Given the description of an element on the screen output the (x, y) to click on. 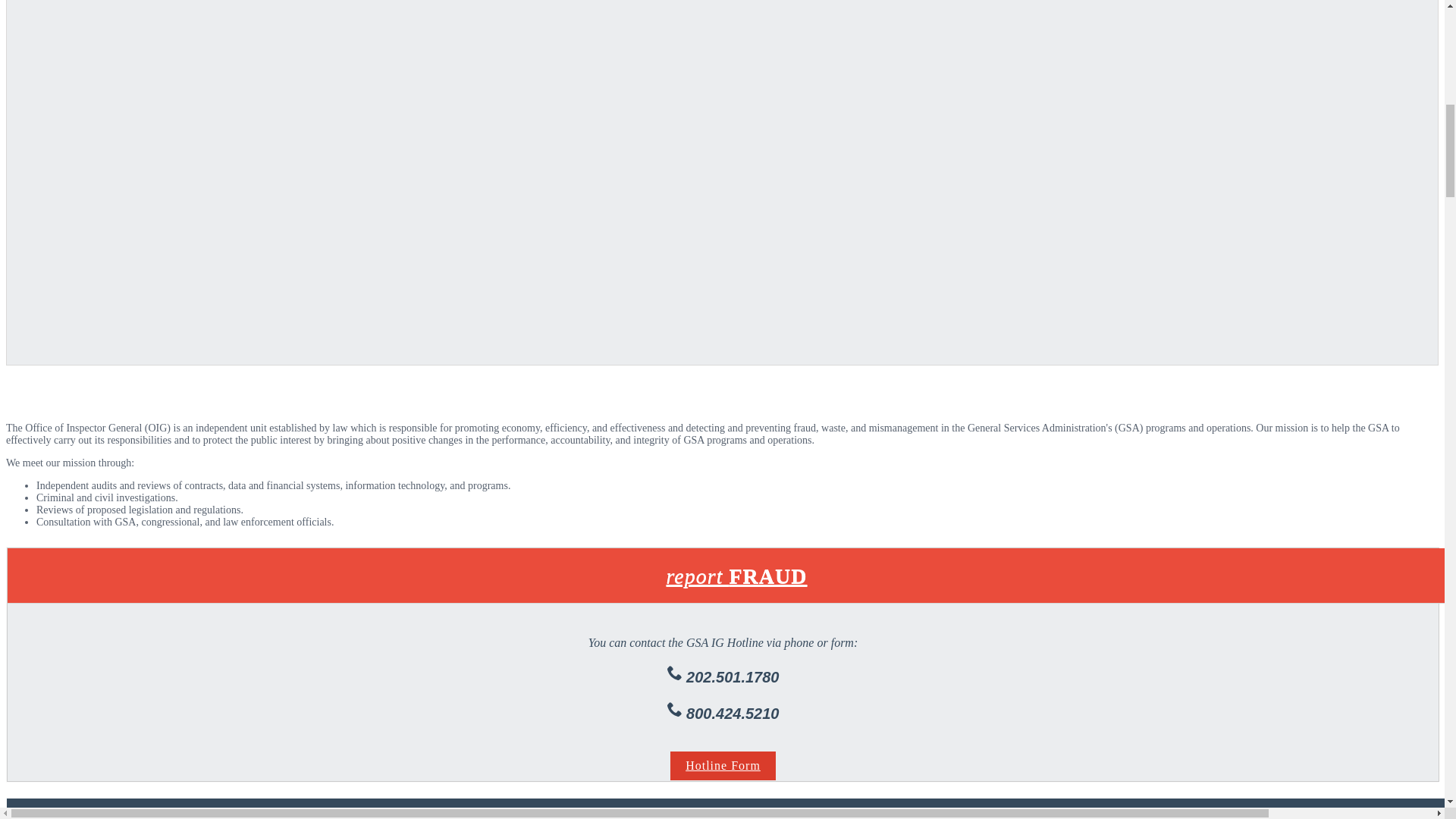
report FRAUD (737, 576)
Hotline Form (722, 765)
